Given the description of an element on the screen output the (x, y) to click on. 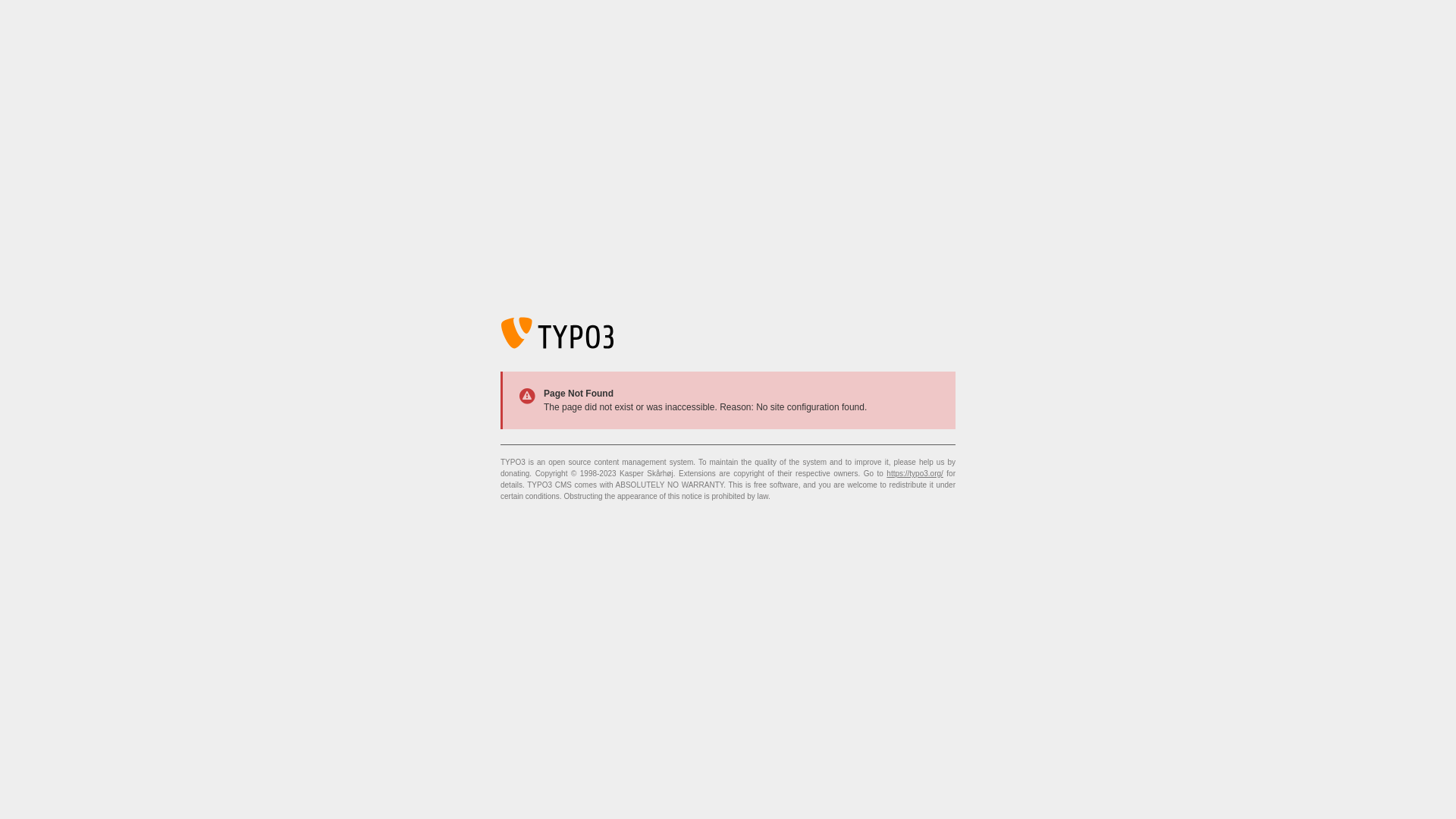
https://typo3.org/ Element type: text (914, 473)
